Given the description of an element on the screen output the (x, y) to click on. 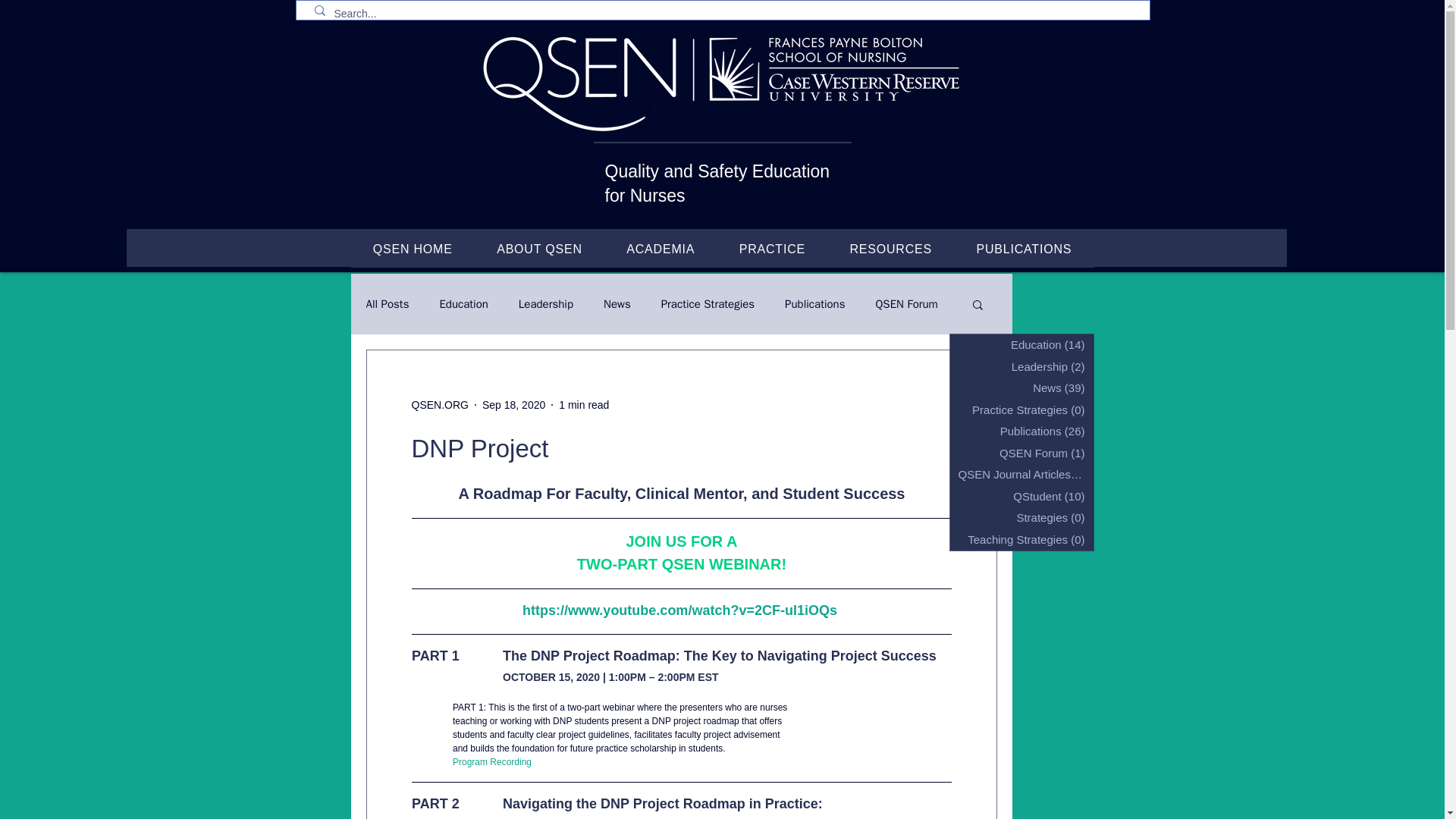
ABOUT QSEN (539, 248)
QSEN.ORG (438, 405)
Sep 18, 2020 (512, 404)
ACADEMIA (660, 248)
QSEN HOME (412, 248)
Quality and Safety Education for Nurses (717, 183)
1 min read (583, 404)
